Given the description of an element on the screen output the (x, y) to click on. 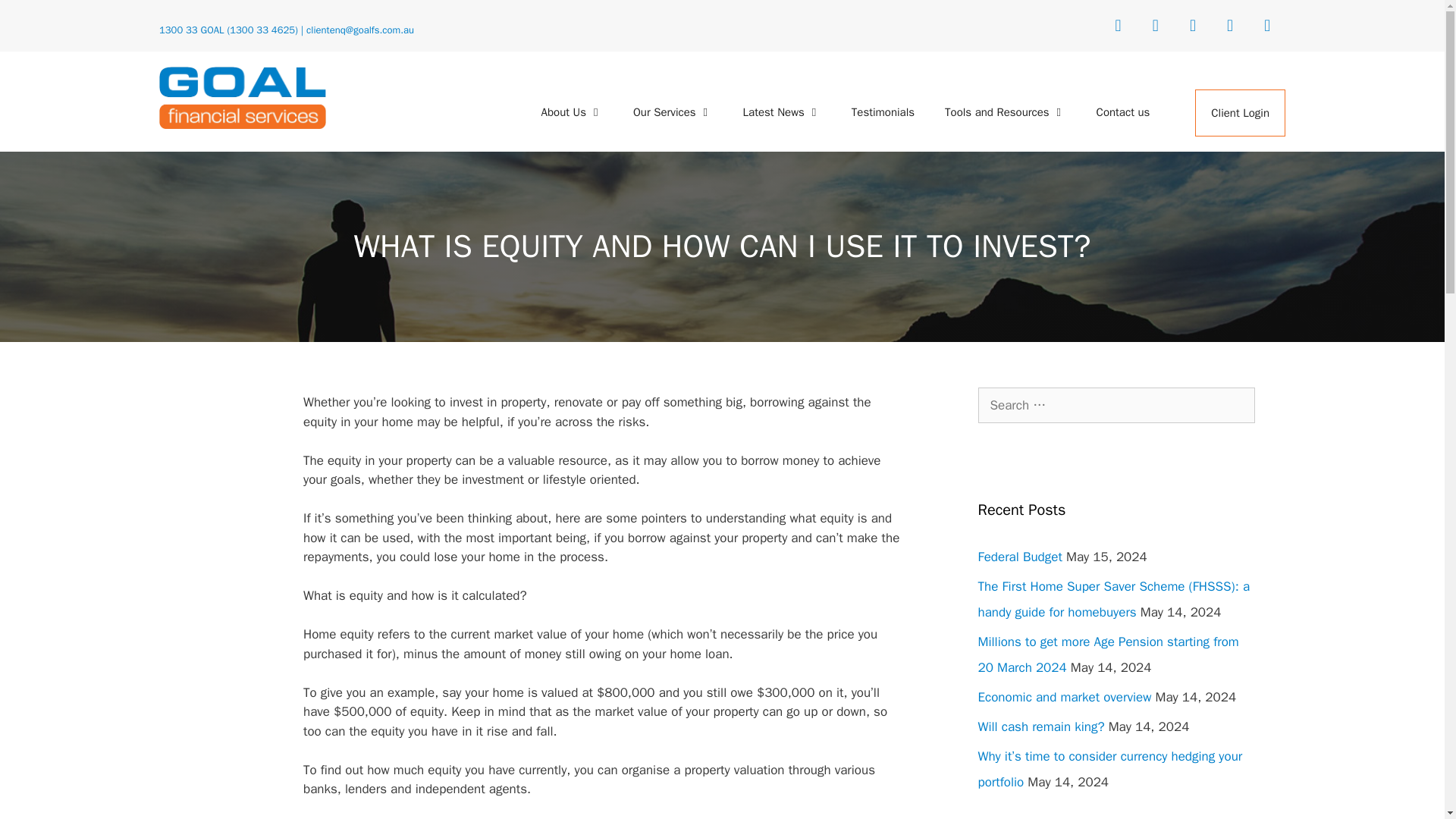
Latest News (781, 112)
Goal Financial Services on X Twitter (1155, 25)
Search (35, 18)
Millions to get more Age Pension starting from 20 March 2024 (1108, 654)
Our Services (672, 112)
Client Login (1239, 112)
Search for: (1116, 405)
Federal Budget (1020, 556)
Goal Financial Services on Yelp (1267, 25)
Economic and market overview (1064, 697)
Testimonials (882, 112)
Will cash remain king? (1041, 726)
About Us (571, 112)
Goal Financial Services on Facebook (1118, 25)
Goal Financial Services on Instagram (1229, 25)
